Given the description of an element on the screen output the (x, y) to click on. 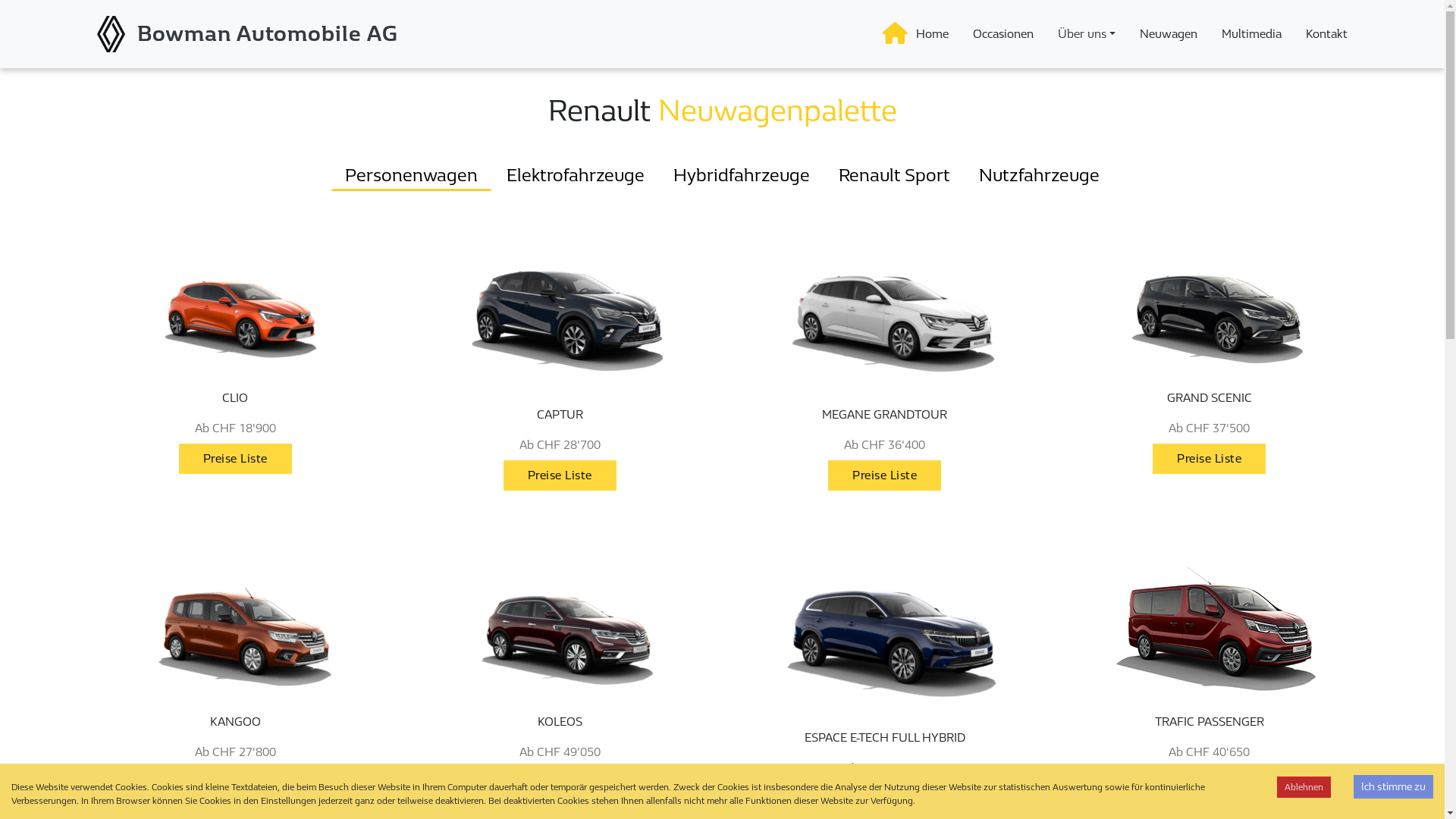
Preise Liste Element type: text (234, 782)
Occasionen Element type: text (1002, 33)
Preise Liste Element type: text (1208, 782)
Preise Liste Element type: text (559, 782)
Preise Liste Element type: text (1208, 458)
Preise Liste Element type: text (559, 475)
Ich stimme zu Element type: text (1393, 786)
Preise Liste Element type: text (559, 782)
Preise Liste Element type: text (1208, 458)
Bowman Automobile AG Element type: text (267, 34)
Home Element type: text (932, 33)
Hybridfahrzeuge Element type: text (741, 175)
Preise Liste Element type: text (559, 474)
Multimedia Element type: text (1251, 33)
Neuwagen Element type: text (1168, 33)
Preise Liste Element type: text (234, 458)
Personenwagen Element type: text (411, 175)
Ablehnen Element type: text (1303, 786)
Renault Sport Element type: text (894, 175)
Preise Liste Element type: text (884, 475)
Preise Liste Element type: text (234, 782)
Elektrofahrzeuge Element type: text (575, 175)
Kontakt Element type: text (1326, 33)
Preise Liste Element type: text (1208, 782)
Preise Liste Element type: text (884, 797)
Nutzfahrzeuge Element type: text (1038, 175)
Preise Liste Element type: text (884, 798)
Preise Liste Element type: text (884, 474)
Preise Liste Element type: text (234, 458)
